Given the description of an element on the screen output the (x, y) to click on. 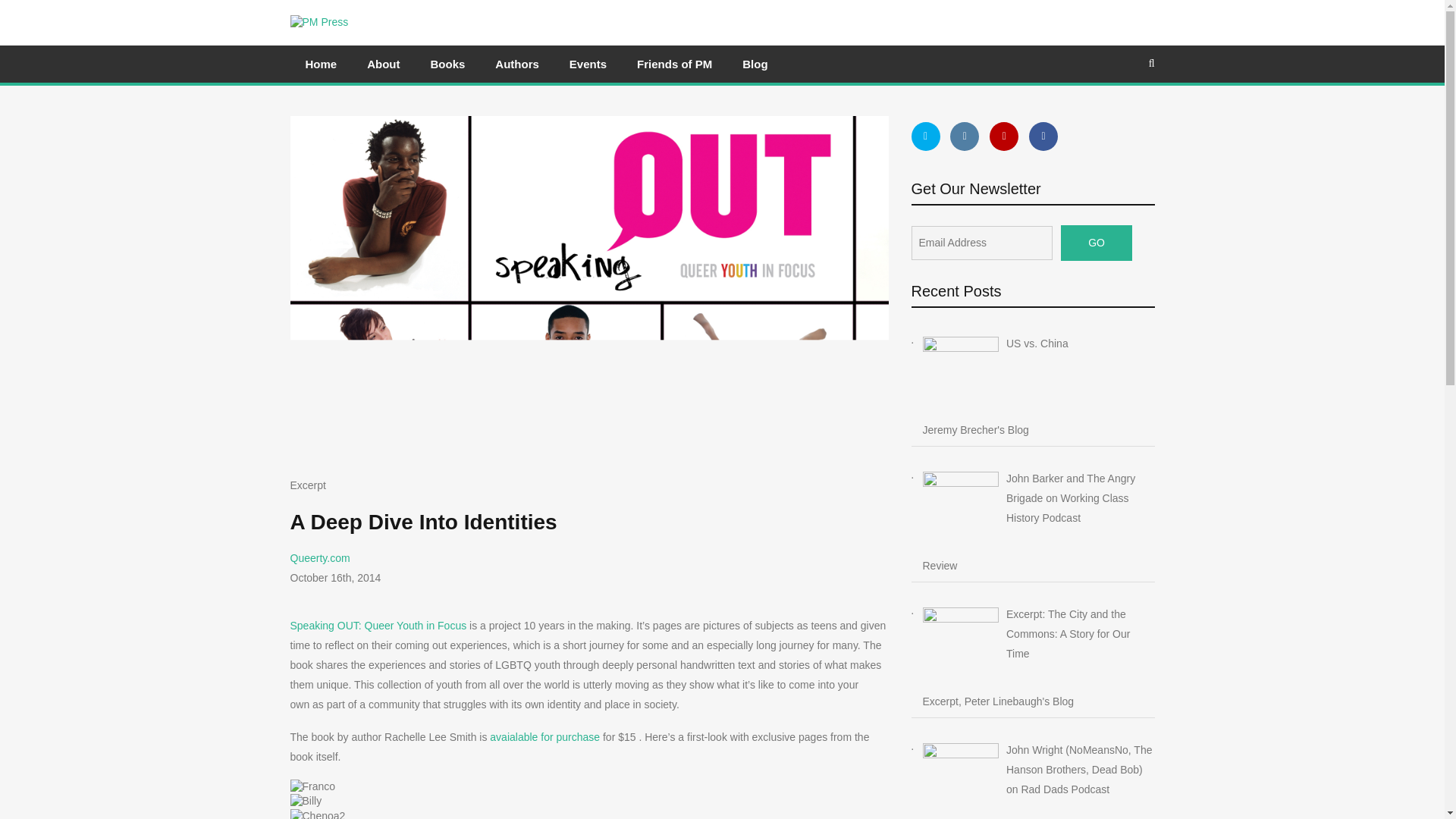
US vs. China (1037, 376)
Excerpt: The City and the Commons: A Story for Our Time (1037, 647)
GO (1096, 243)
Excerpt (306, 485)
Blog (754, 63)
Authors (517, 63)
Friends of PM (673, 63)
Queerty.com (319, 558)
GO (1096, 243)
